Given the description of an element on the screen output the (x, y) to click on. 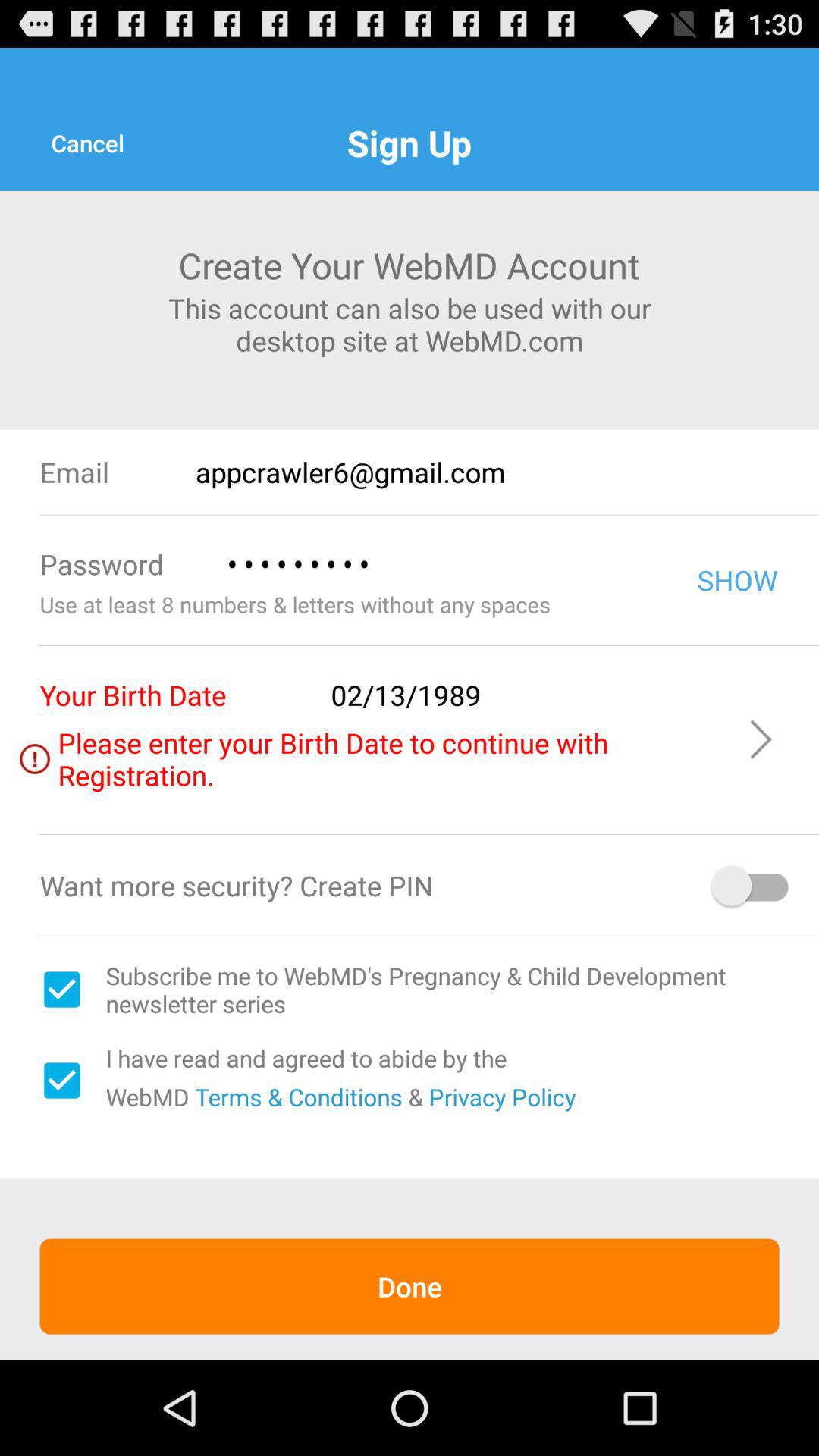
open the item above done item (295, 1096)
